Given the description of an element on the screen output the (x, y) to click on. 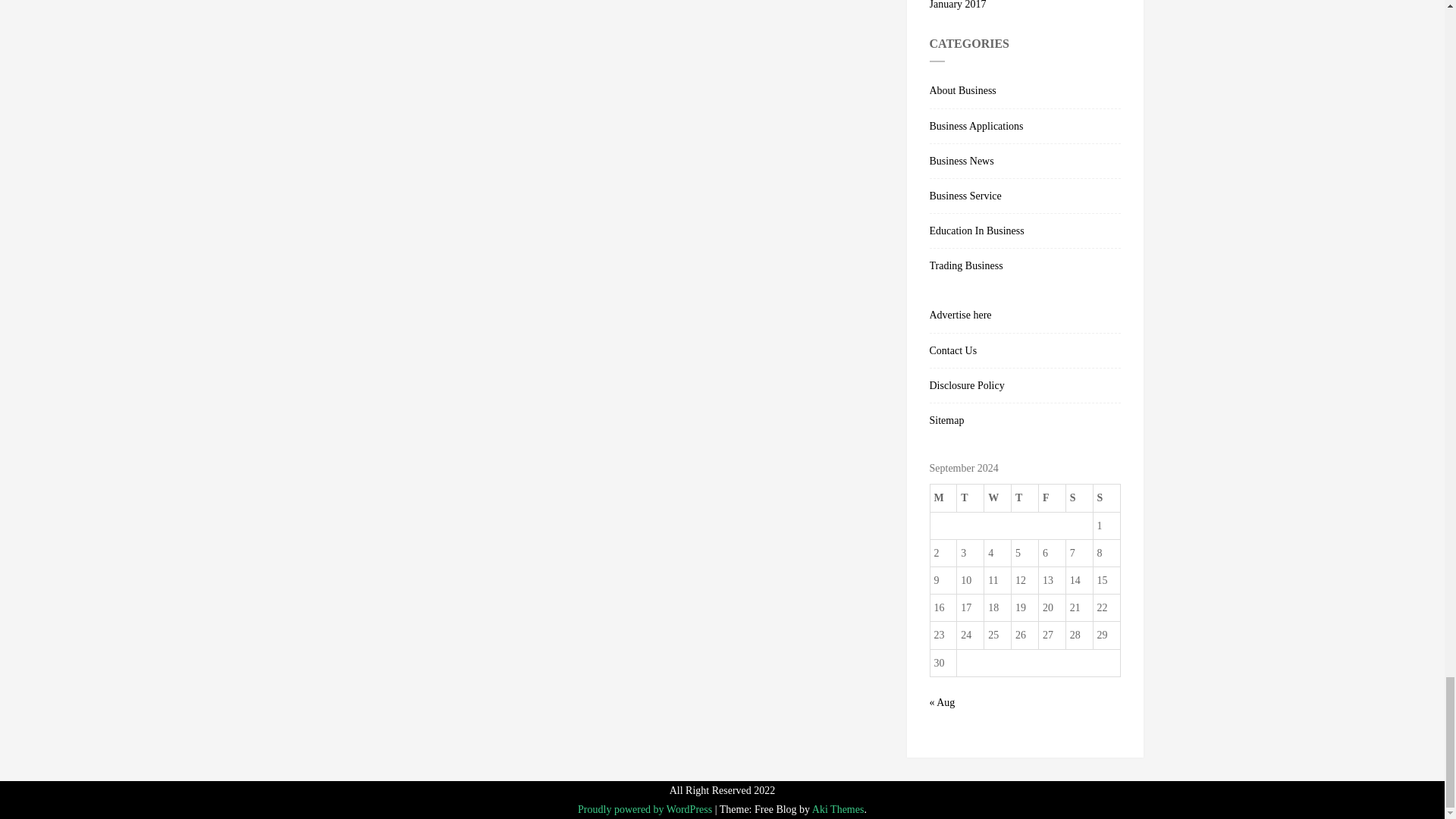
Thursday (1025, 497)
Wednesday (997, 497)
Monday (943, 497)
Sunday (1106, 497)
Friday (1051, 497)
Tuesday (970, 497)
Saturday (1079, 497)
